Given the description of an element on the screen output the (x, y) to click on. 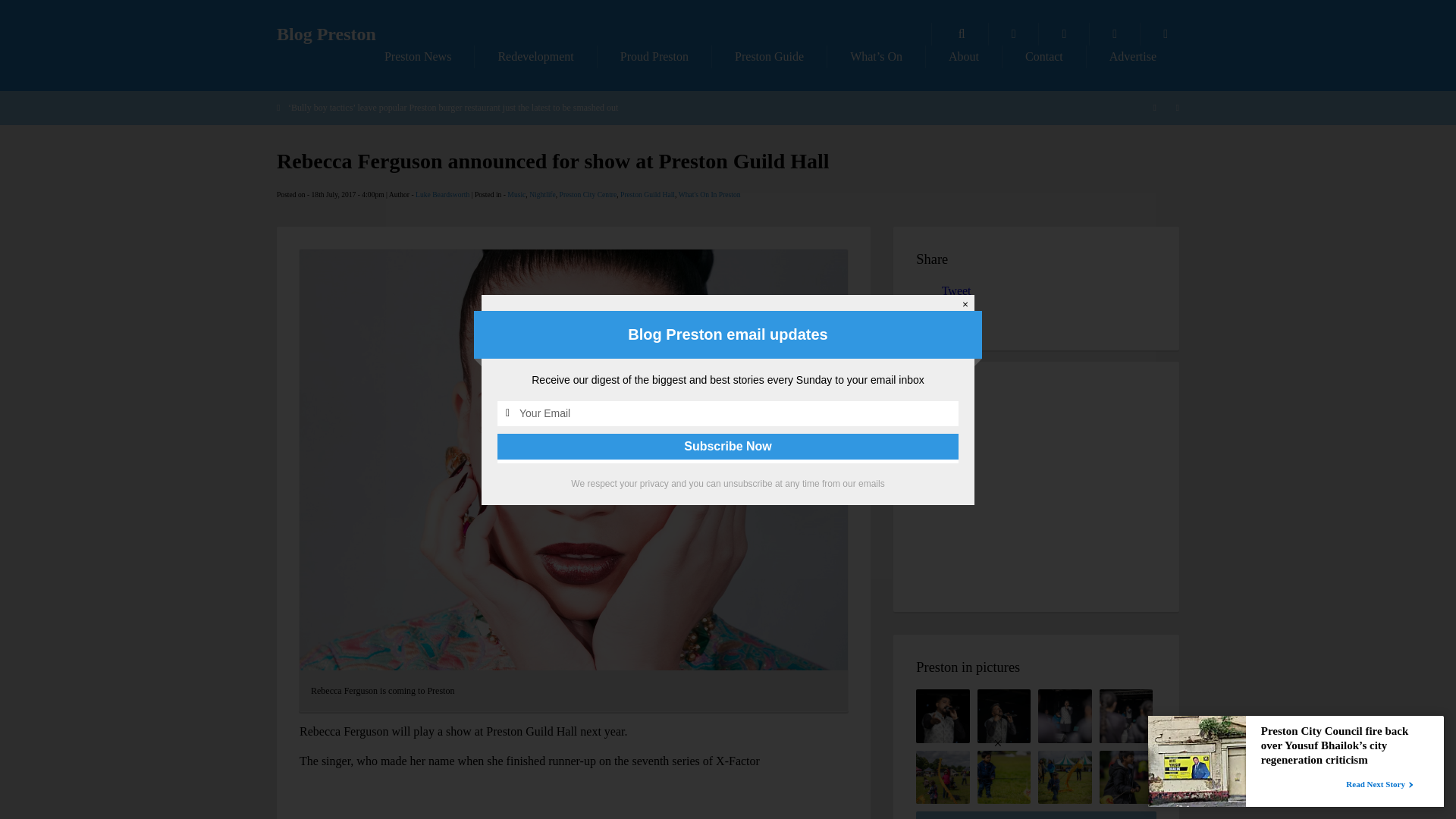
About Blog Preston (963, 56)
Redevelopment (534, 56)
Proud Preston (653, 56)
Blog Preston (325, 33)
Preston Guide (769, 56)
Preston Guild Hall (647, 194)
About (963, 56)
Latest Preston news (417, 56)
Contact Blog Preston (1044, 56)
Blog Preston (325, 33)
Proud Preston (653, 56)
Advertise on Blog Preston (1132, 56)
Blog Preston on Twitter (1114, 33)
Subscribe Now (727, 446)
Luke Beardsworth (441, 194)
